Given the description of an element on the screen output the (x, y) to click on. 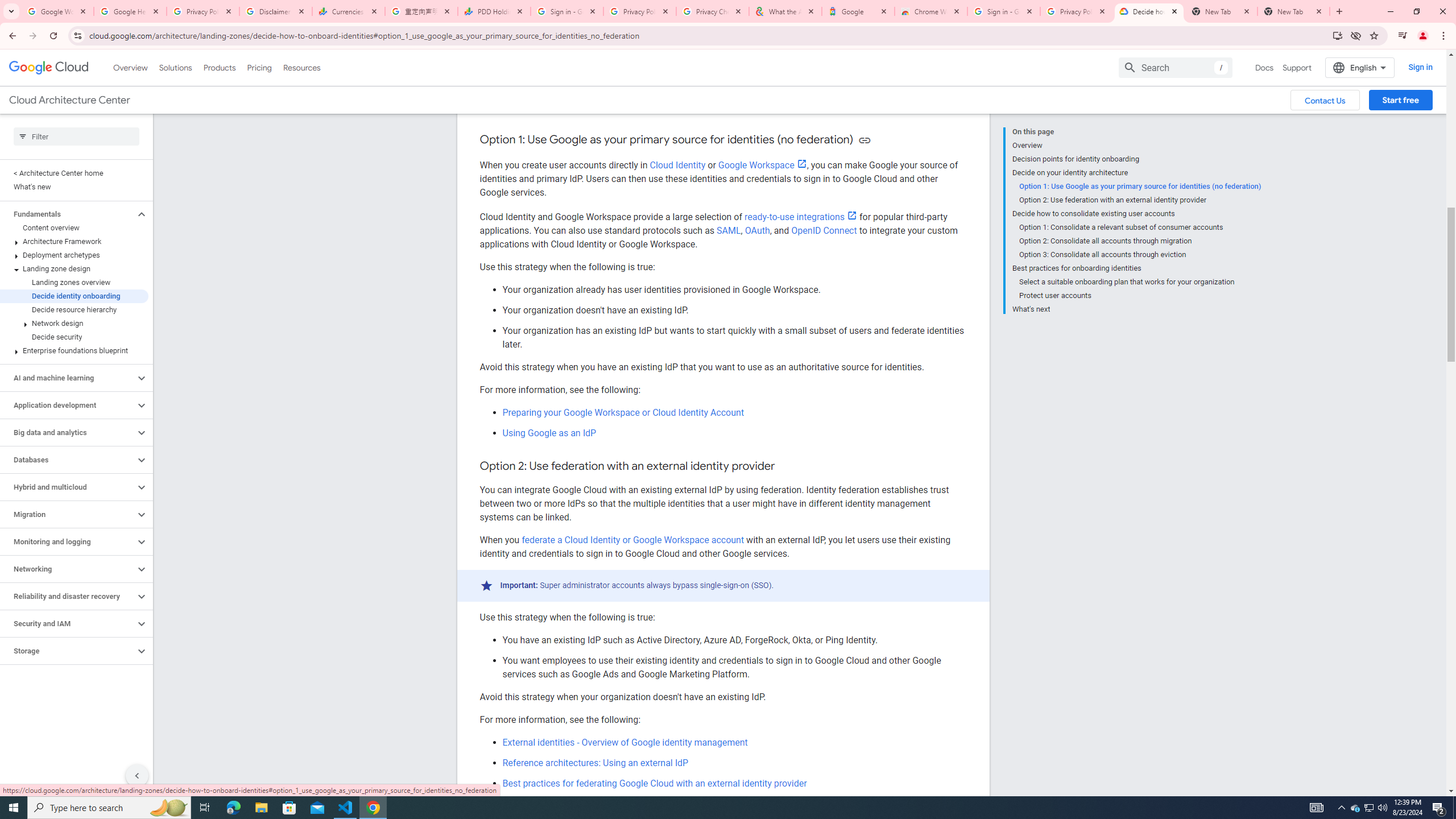
Protect user accounts (1139, 295)
Networking (67, 568)
What's new (74, 187)
Best practices for onboarding identities (1135, 268)
Currencies - Google Finance (348, 11)
Google Workspace (761, 164)
AI and machine learning (67, 377)
Application development (67, 404)
Sign in - Google Accounts (1003, 11)
Decide how to consolidate existing user accounts (1135, 213)
